Given the description of an element on the screen output the (x, y) to click on. 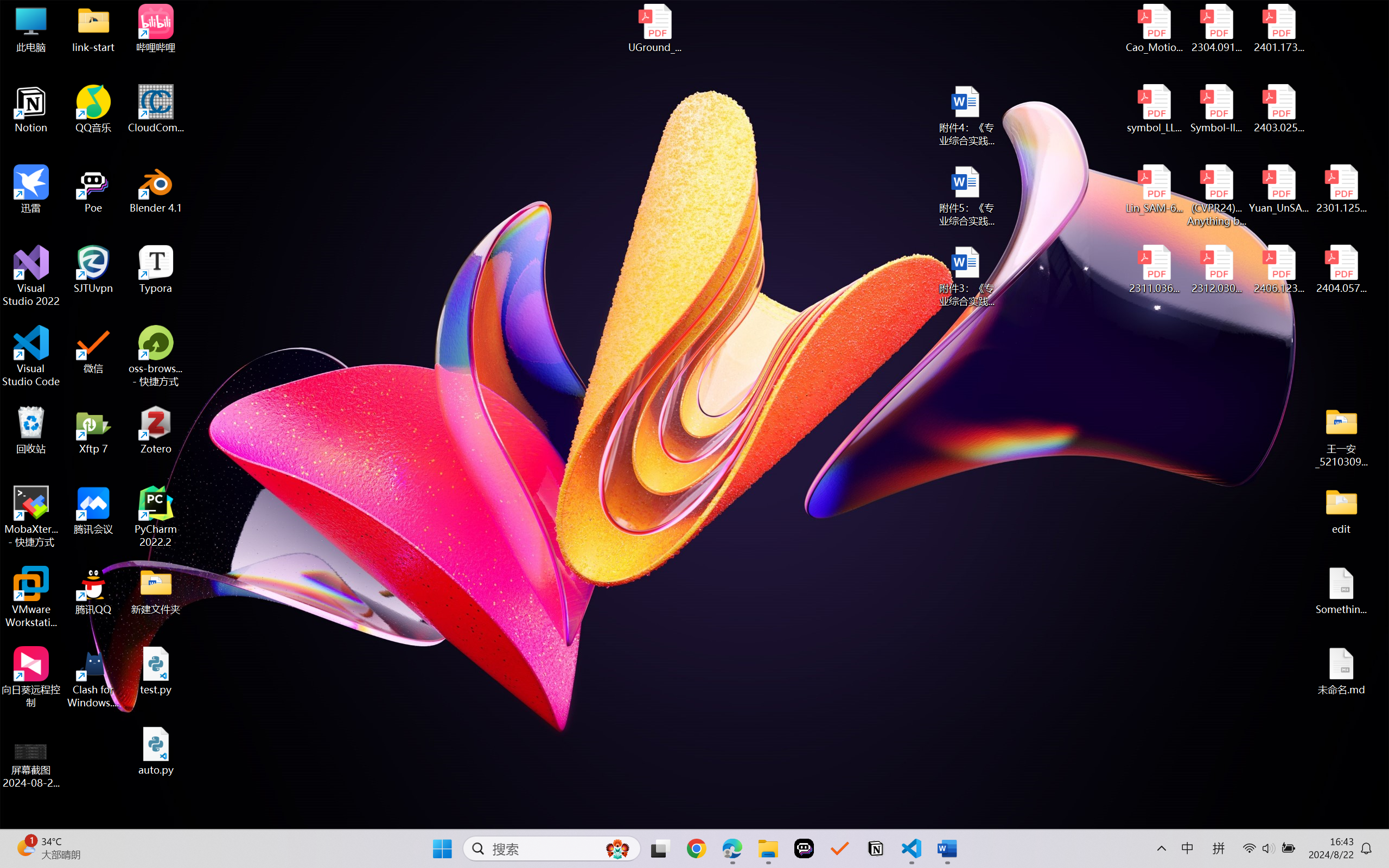
Blender 4.1 (156, 189)
2404.05719v1.pdf (1340, 269)
Typora (156, 269)
2304.09121v3.pdf (1216, 28)
2312.03032v2.pdf (1216, 269)
